Given the description of an element on the screen output the (x, y) to click on. 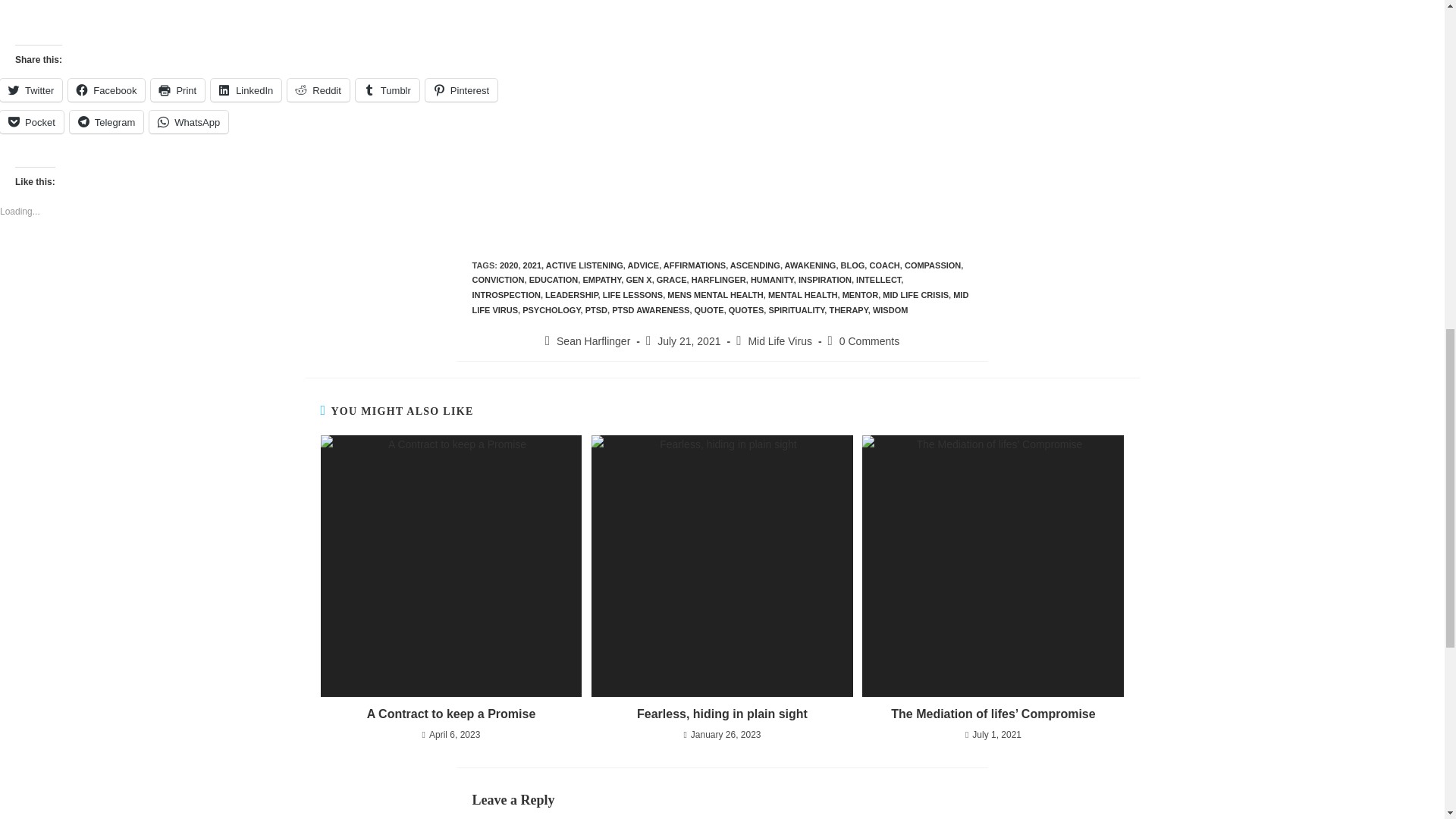
Click to share on Facebook (106, 89)
Click to share on LinkedIn (246, 89)
WhatsApp (188, 121)
Click to share on Twitter (31, 89)
Twitter (31, 89)
Reddit (317, 89)
Click to share on Tumblr (387, 89)
Facebook (106, 89)
Pocket (32, 121)
2020 (508, 265)
LinkedIn (246, 89)
Click to share on WhatsApp (188, 121)
Click to print (178, 89)
ASCENDING (755, 265)
Posts by Sean Harflinger (593, 340)
